Given the description of an element on the screen output the (x, y) to click on. 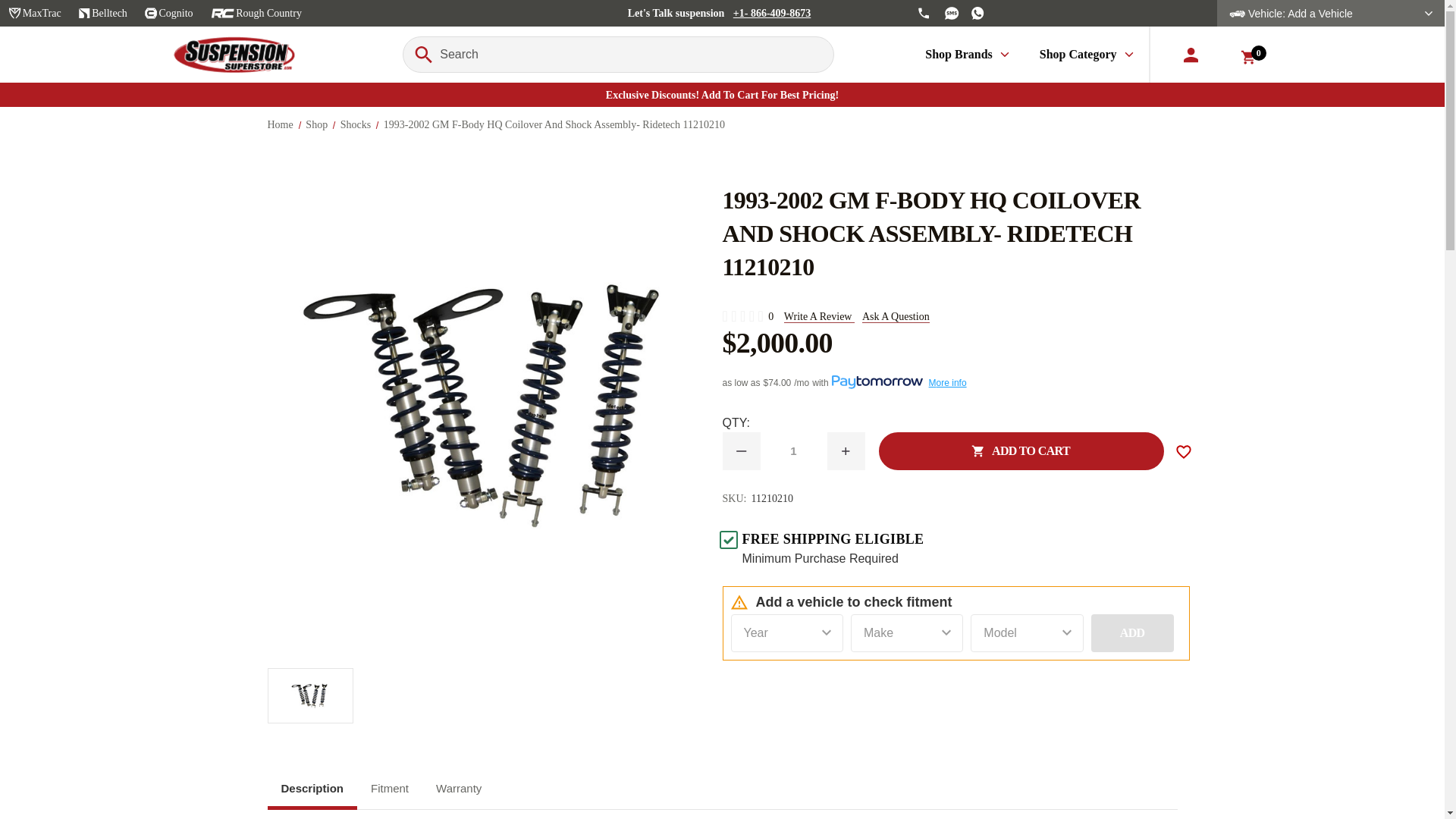
Cognito (169, 13)
1 (793, 451)
Belltech (102, 13)
Rough Country (256, 13)
Suspension Superstore (234, 54)
MaxTrac (34, 13)
